Given the description of an element on the screen output the (x, y) to click on. 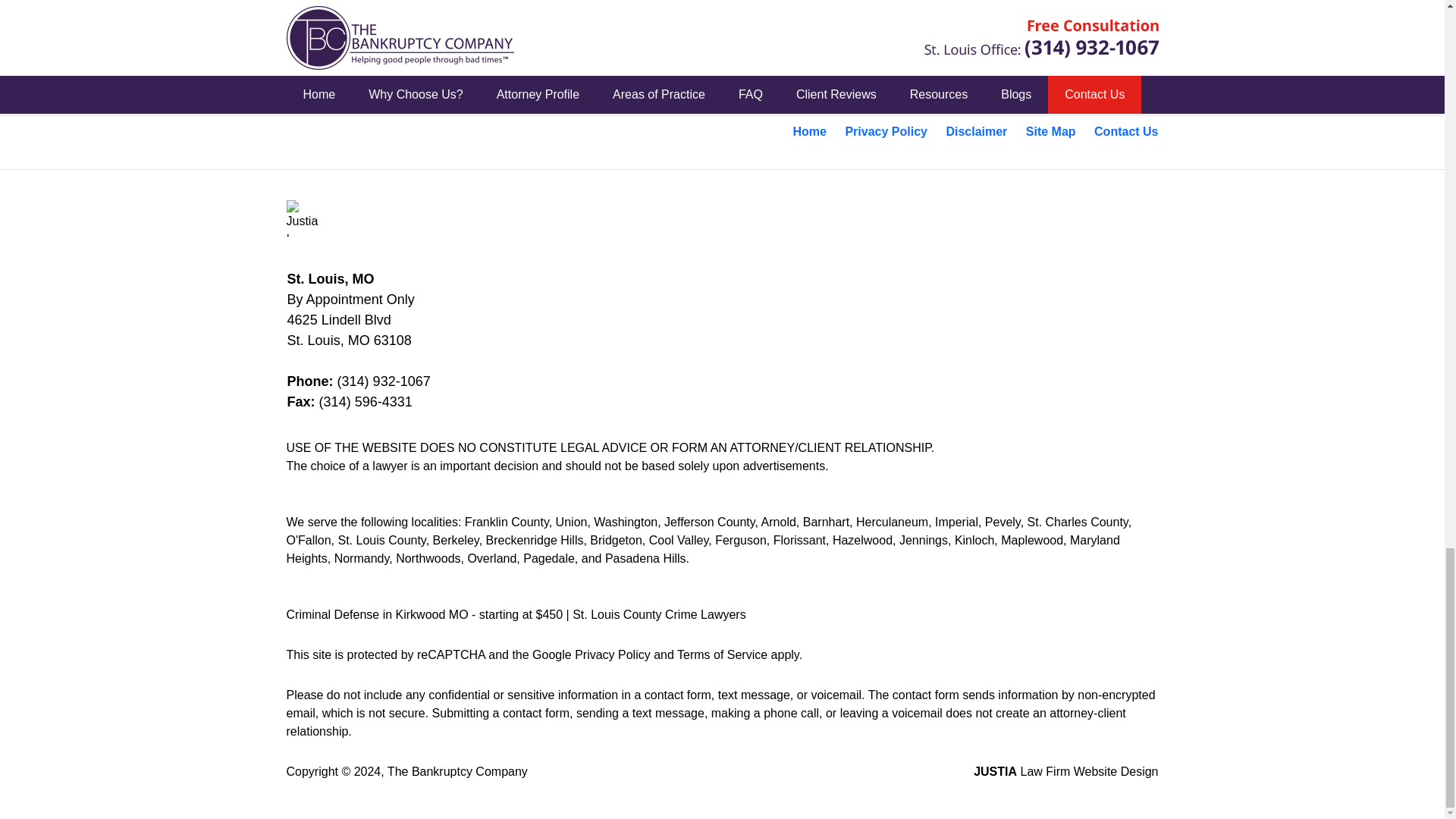
Home (810, 131)
Submit a Law Firm Client Review (722, 10)
Justia (304, 217)
Privacy Policy (885, 131)
Disclaimer (975, 131)
